Given the description of an element on the screen output the (x, y) to click on. 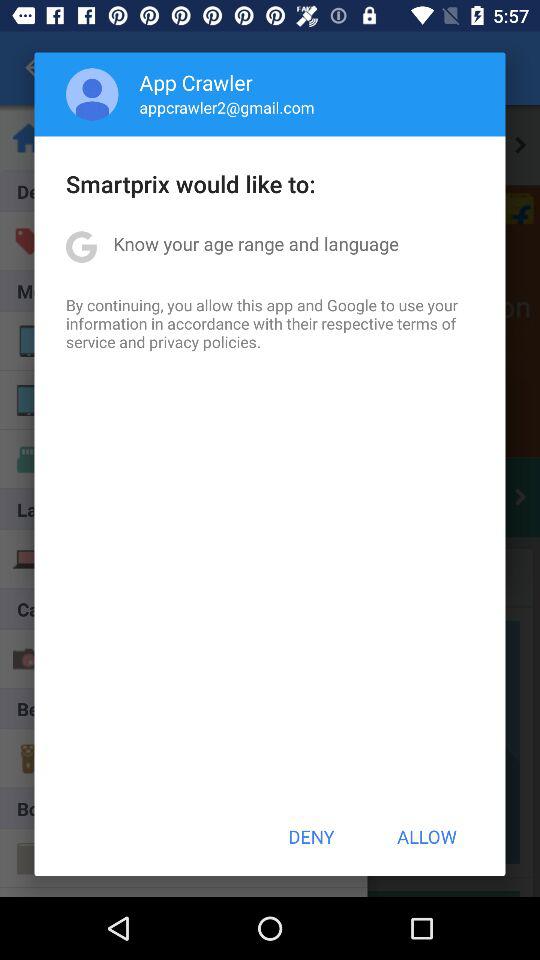
turn on the deny (311, 836)
